Given the description of an element on the screen output the (x, y) to click on. 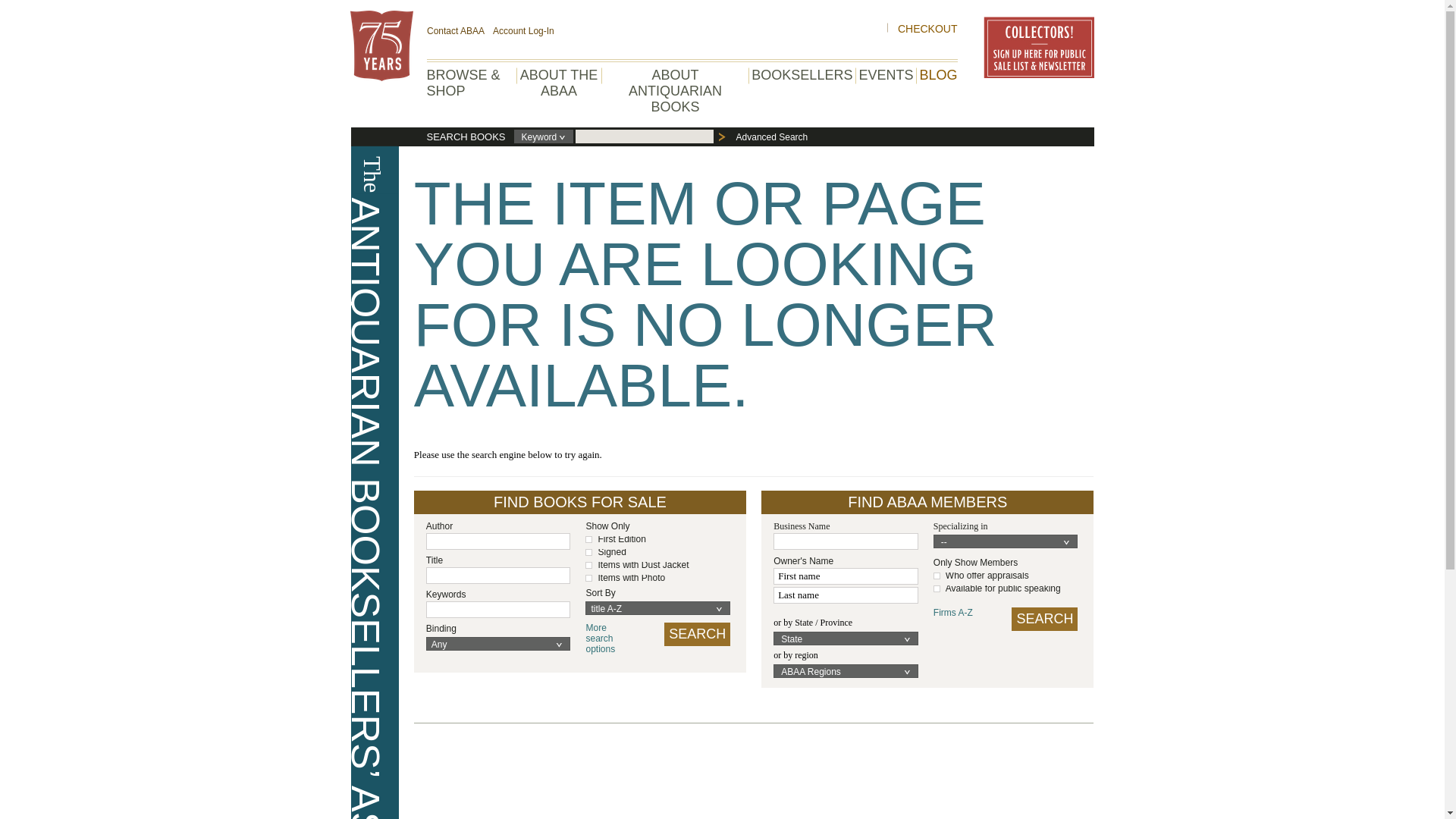
search (1044, 618)
Firms A-Z (963, 612)
Skip to main content (8, 7)
BLOG (937, 74)
ABOUT ANTIQUARIAN BOOKS (675, 90)
ABAA (381, 45)
Advanced Search (772, 137)
search (609, 638)
search (696, 634)
